Given the description of an element on the screen output the (x, y) to click on. 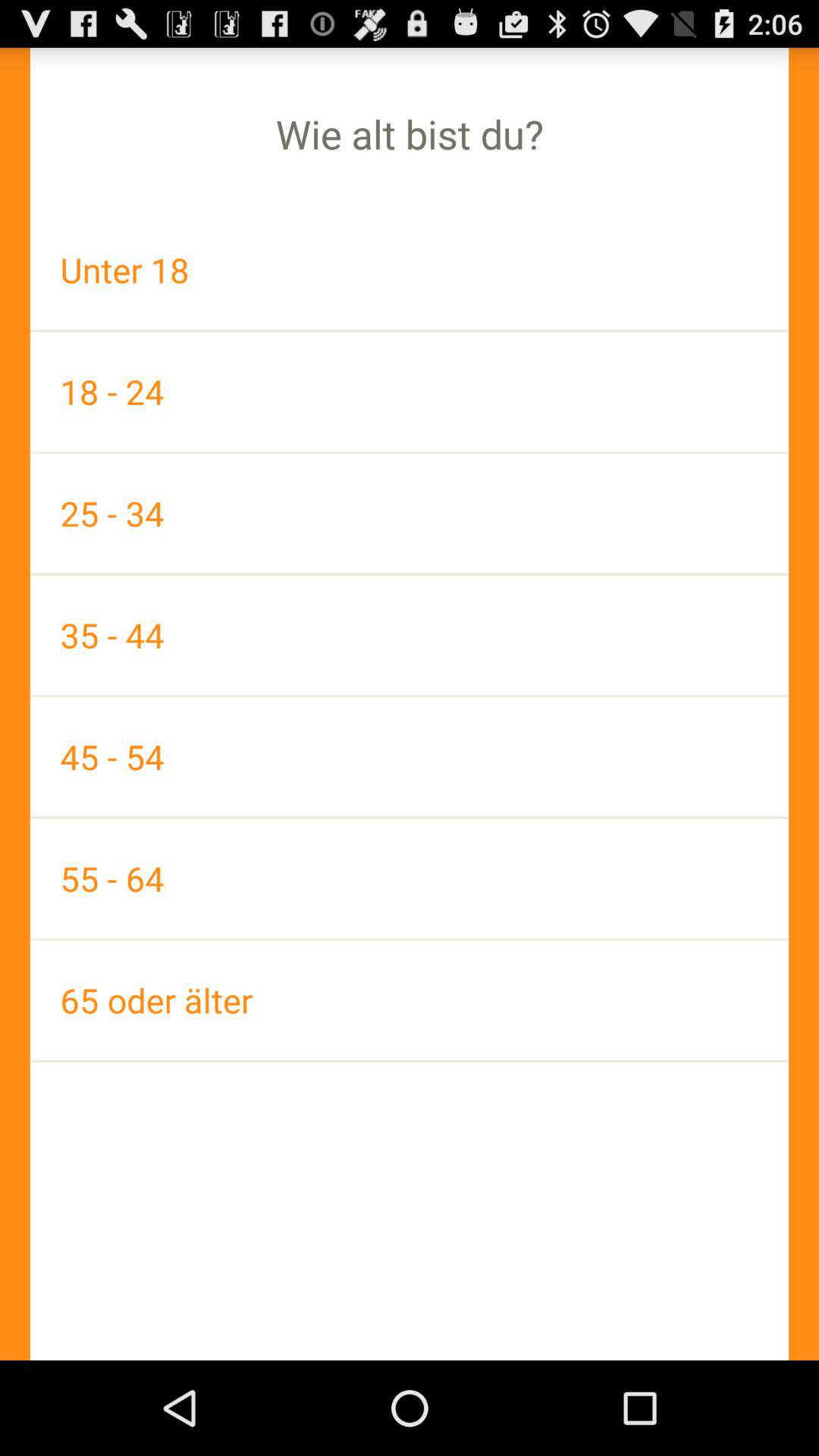
turn on the item below the 45 - 54 item (409, 878)
